Given the description of an element on the screen output the (x, y) to click on. 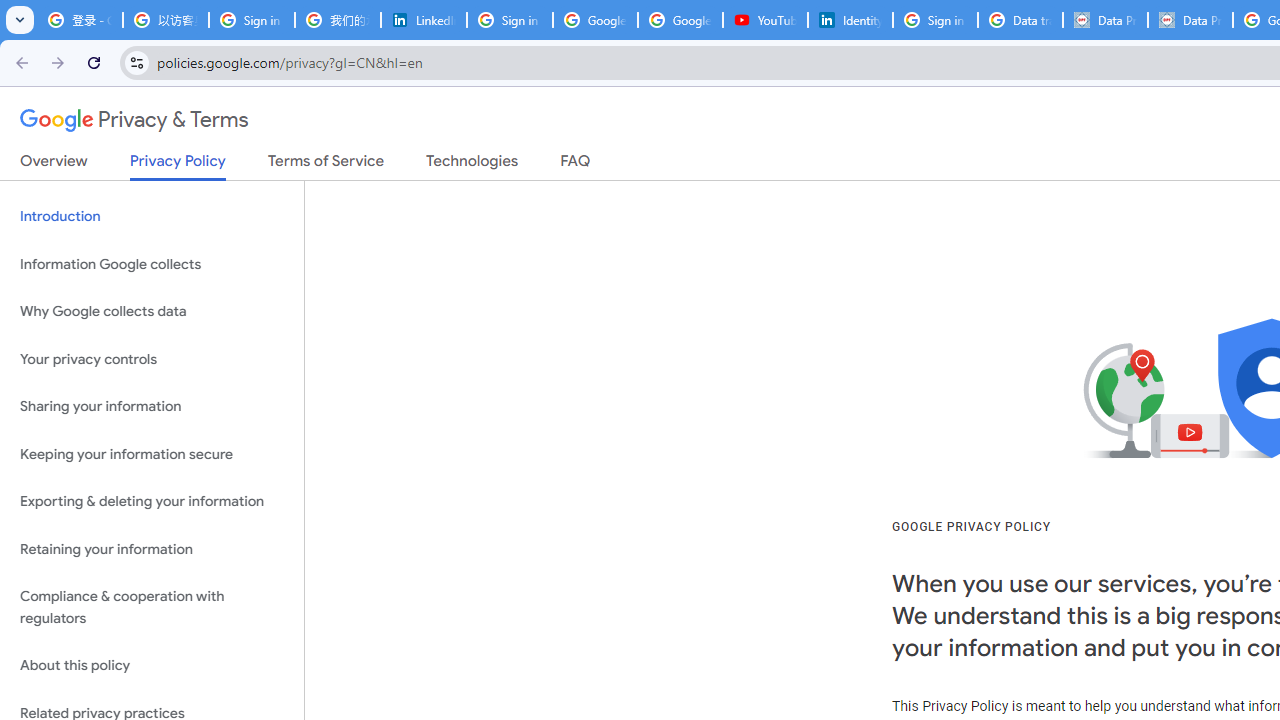
Why Google collects data (152, 312)
Sign in - Google Accounts (935, 20)
Your privacy controls (152, 358)
